Given the description of an element on the screen output the (x, y) to click on. 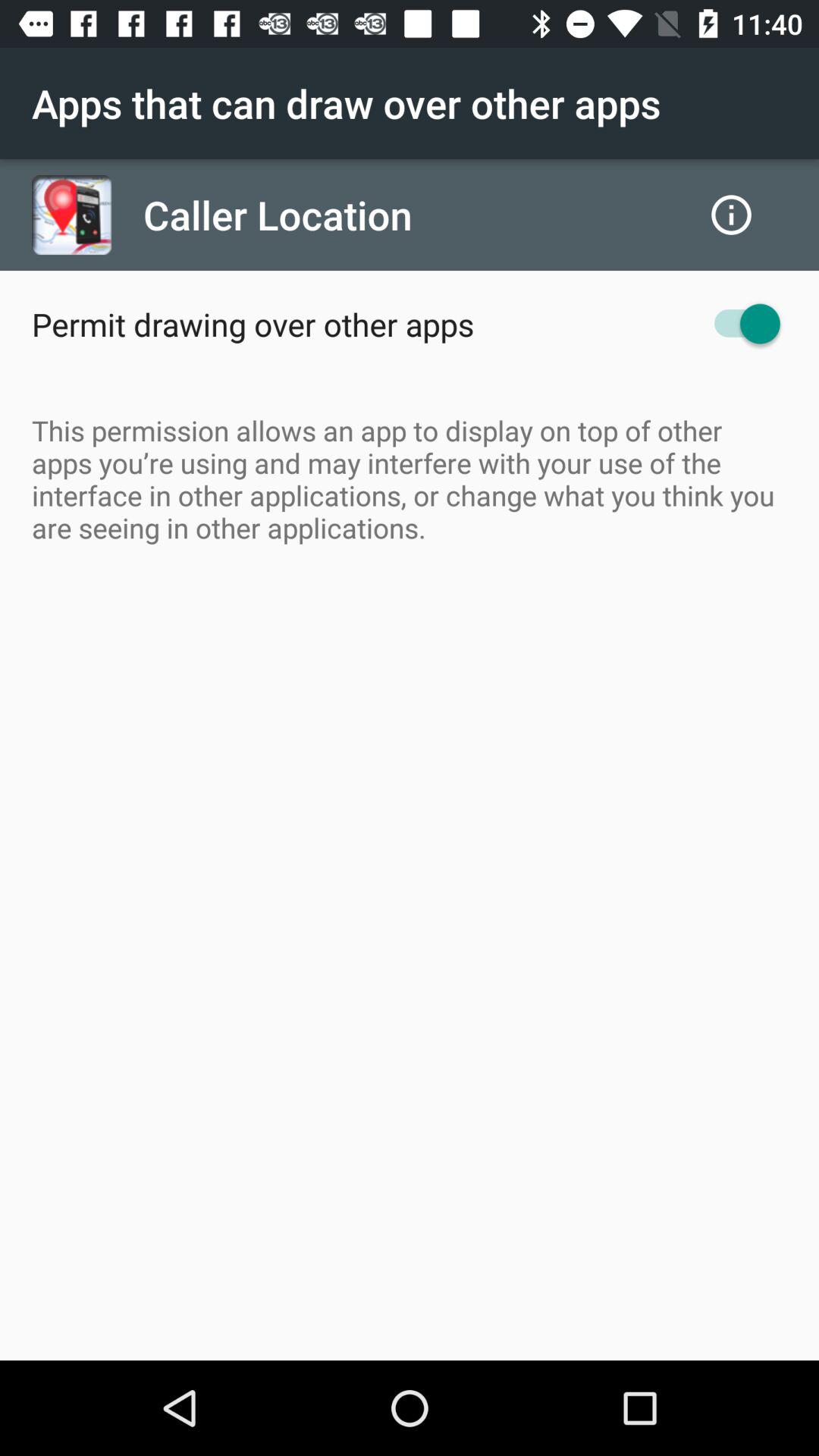
choose the icon next to caller location item (731, 214)
